Given the description of an element on the screen output the (x, y) to click on. 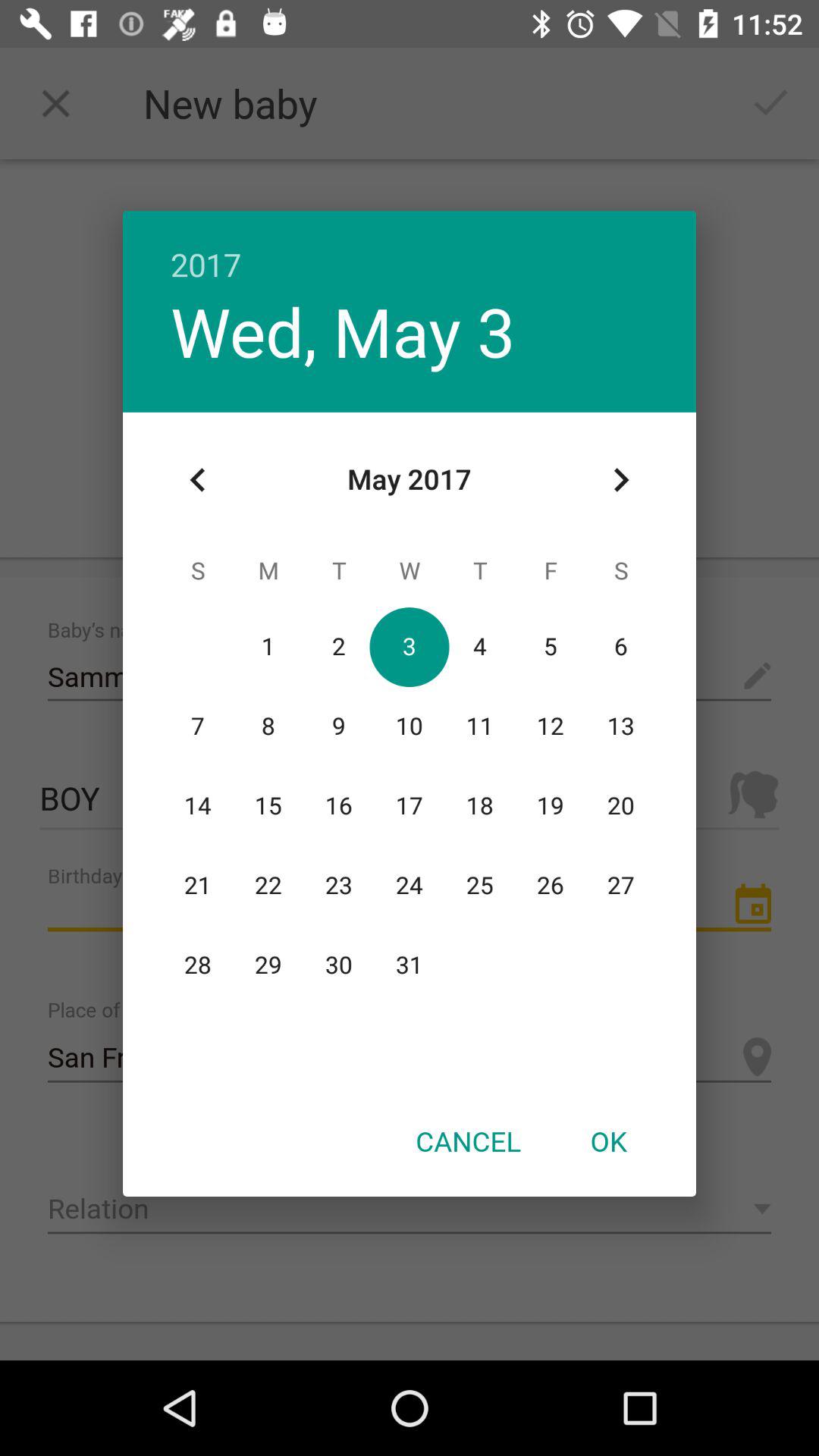
turn off the ok (608, 1140)
